Given the description of an element on the screen output the (x, y) to click on. 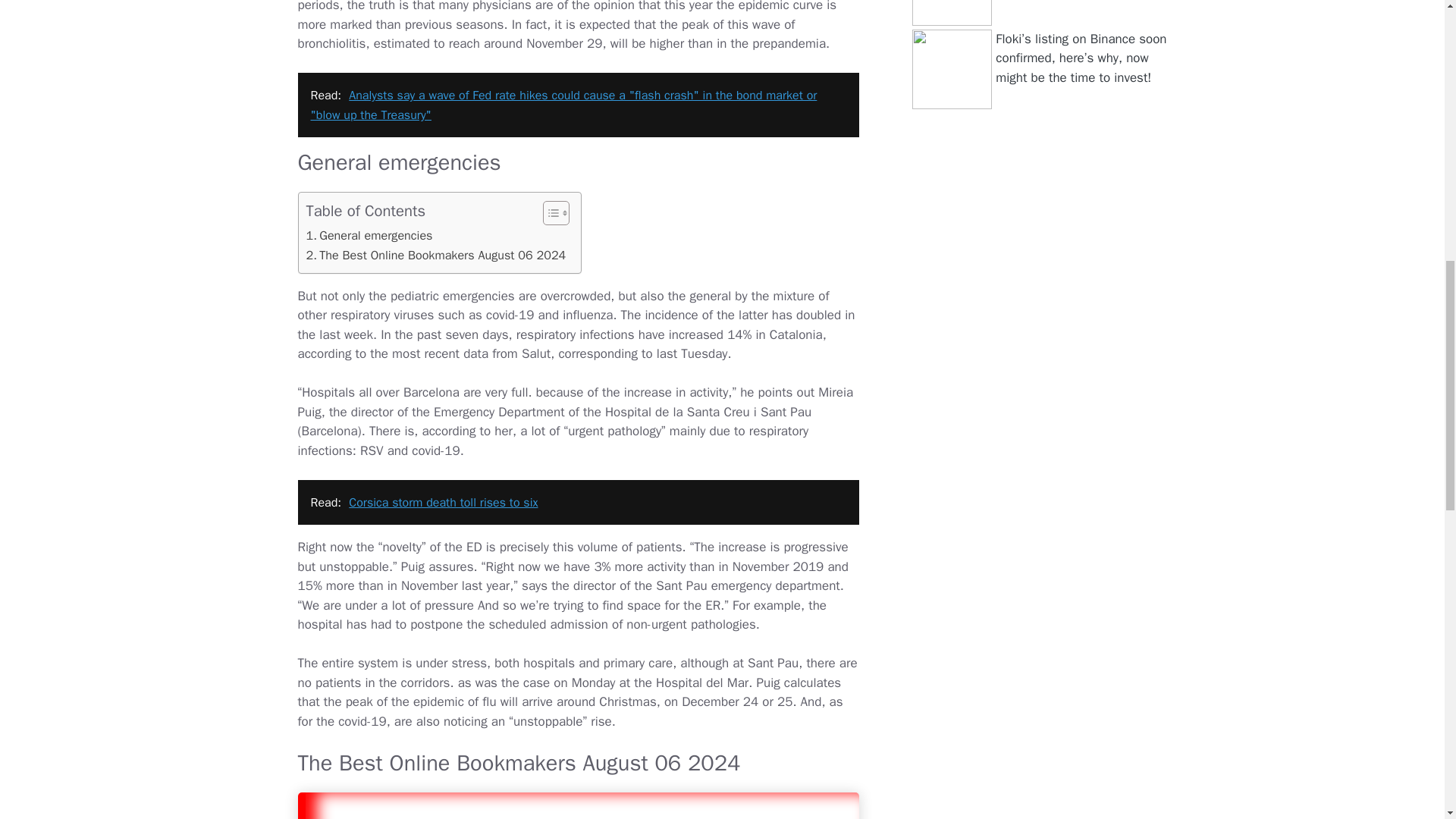
Scroll back to top (1406, 720)
General emergencies (368, 235)
The Best Online Bookmakers August 06 2024 (435, 255)
